Given the description of an element on the screen output the (x, y) to click on. 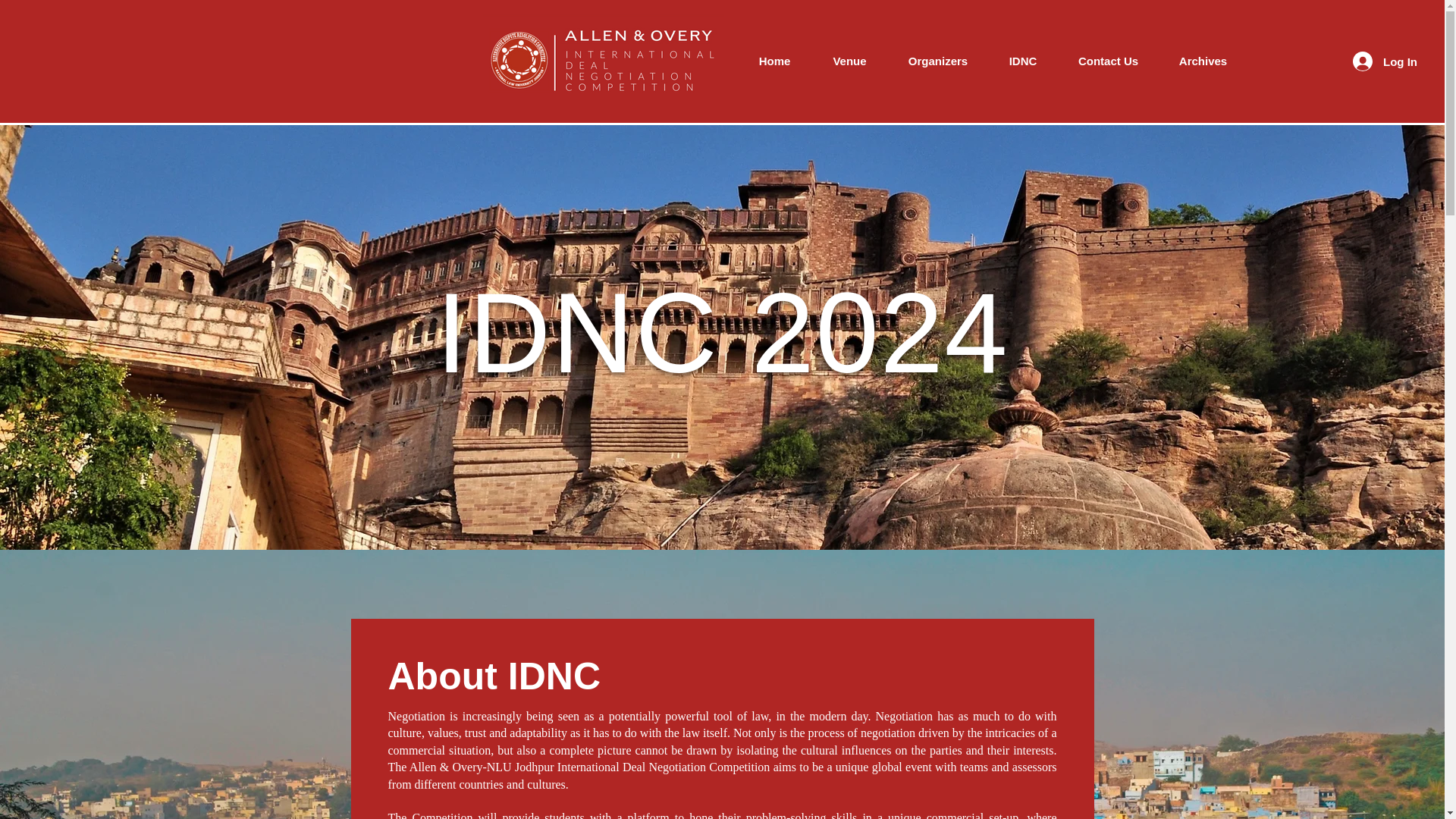
IDNC (1022, 60)
Home (774, 60)
Archives (1202, 60)
Contact Us (1108, 60)
Organizers (938, 60)
Log In (1385, 61)
Venue (849, 60)
